Given the description of an element on the screen output the (x, y) to click on. 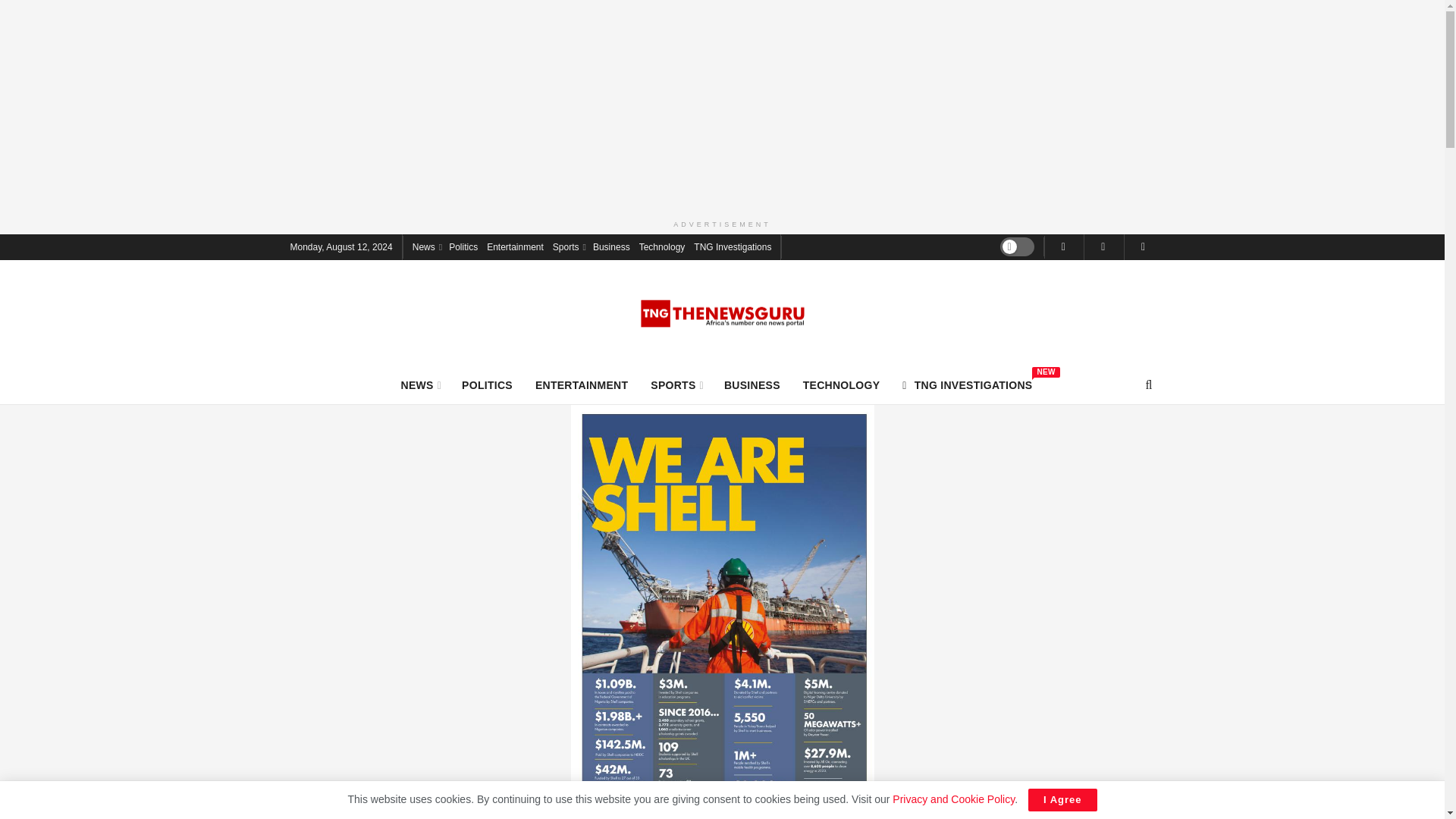
Business (611, 246)
SPORTS (675, 384)
Entertainment (514, 246)
NEWS (420, 384)
ENTERTAINMENT (581, 384)
BUSINESS (751, 384)
Technology (662, 246)
TECHNOLOGY (841, 384)
